Given the description of an element on the screen output the (x, y) to click on. 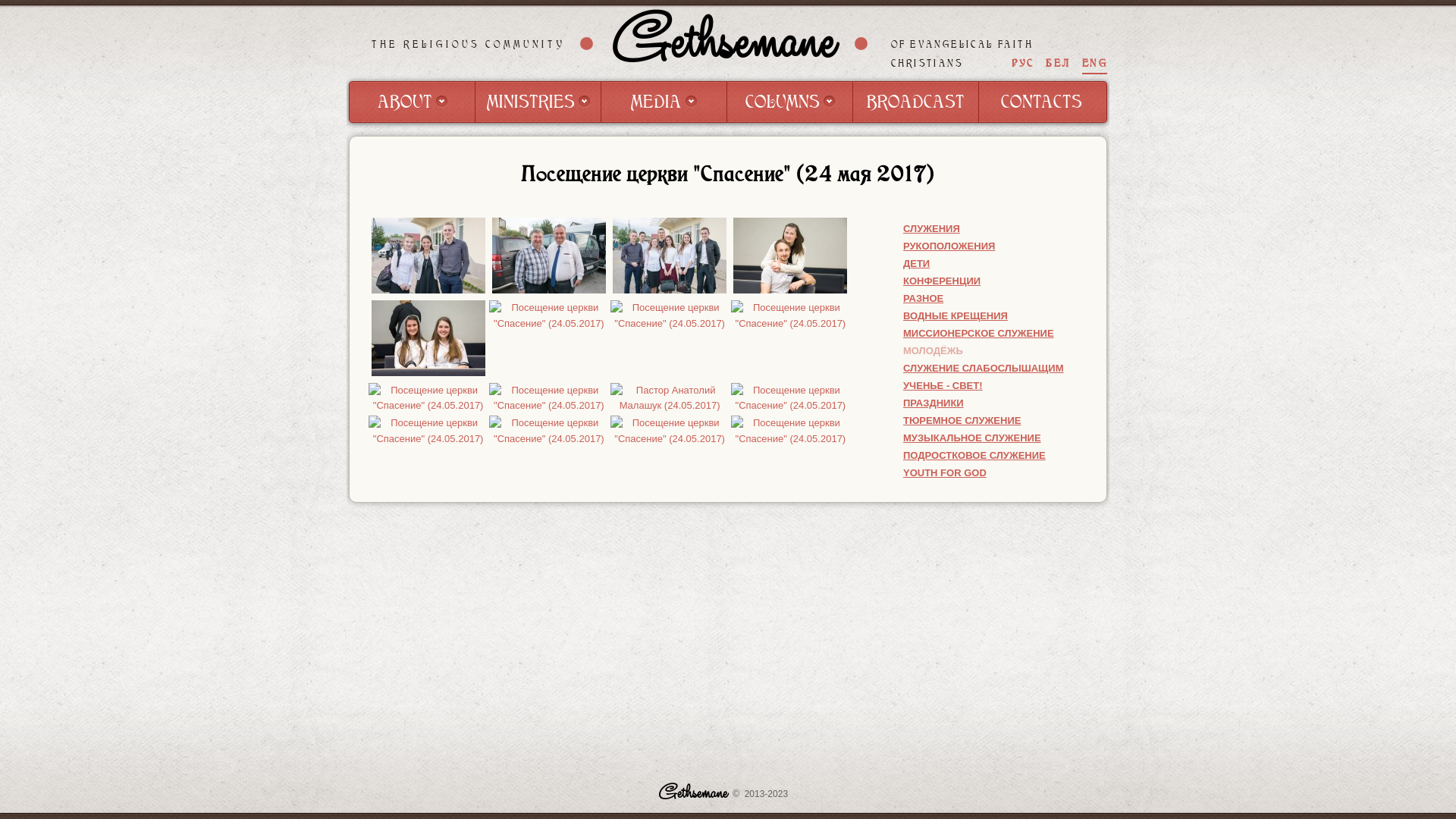
COLUMNS
COLUMNS Element type: text (789, 101)
Gethsemane Element type: text (723, 43)
YOUTH FOR GOD Element type: text (944, 472)
ABOUT
ABOUT Element type: text (411, 101)
CONTACTS
CONTACTS Element type: text (1041, 101)
MEDIA
MEDIA Element type: text (663, 101)
MINISTRIES
MINISTRIES Element type: text (537, 101)
BROADCAST
BROADCAST Element type: text (915, 101)
ENG Element type: text (1094, 63)
